Given the description of an element on the screen output the (x, y) to click on. 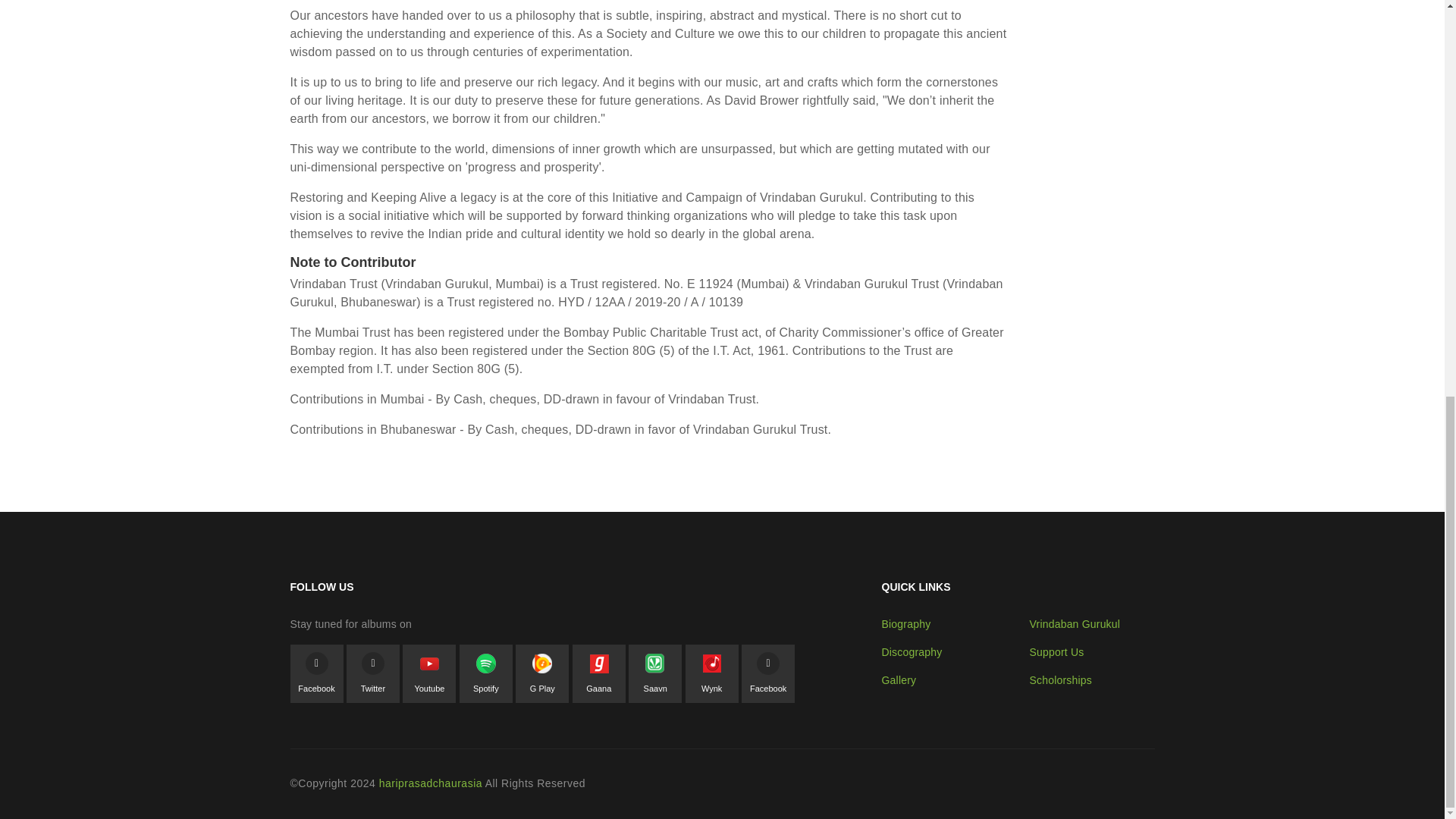
Scholorships (1061, 680)
Spotify (486, 675)
Youtube (429, 675)
Saavn (655, 675)
Vrindaban Gurukul (1075, 623)
Biography (905, 623)
hariprasadchaurasia (429, 783)
Wynk (711, 675)
Gaana (598, 675)
G Play (541, 675)
Support Us (1056, 652)
Discography (911, 652)
Gallery (897, 680)
